Given the description of an element on the screen output the (x, y) to click on. 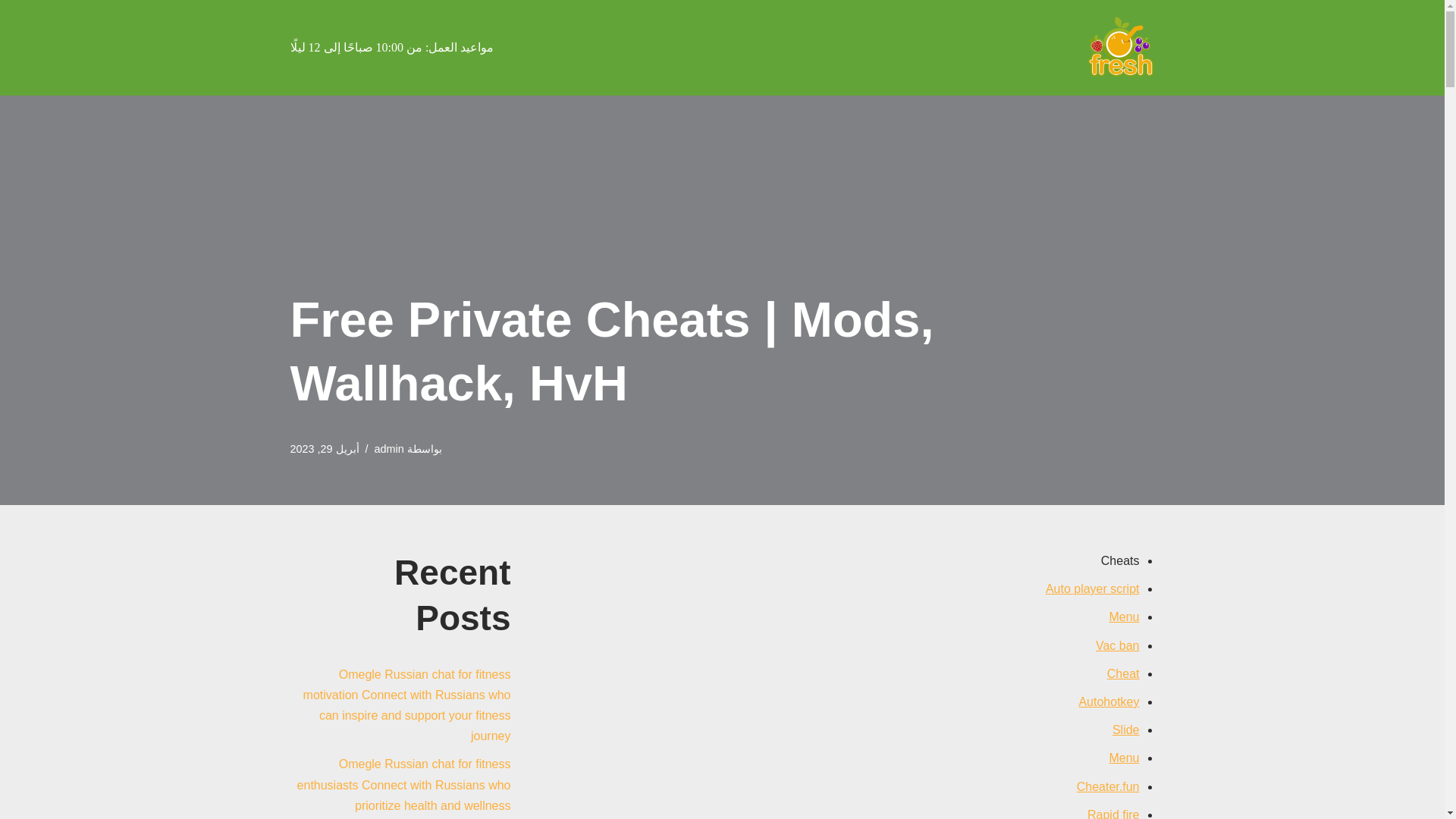
Auto player script (1092, 588)
Cheat (1123, 673)
admin (389, 449)
Autohotkey (1108, 701)
Slide (1126, 729)
Menu (1123, 757)
Vac ban (1118, 645)
Cheater.fun (1108, 785)
Rapid fire (1112, 813)
Menu (1123, 616)
